Given the description of an element on the screen output the (x, y) to click on. 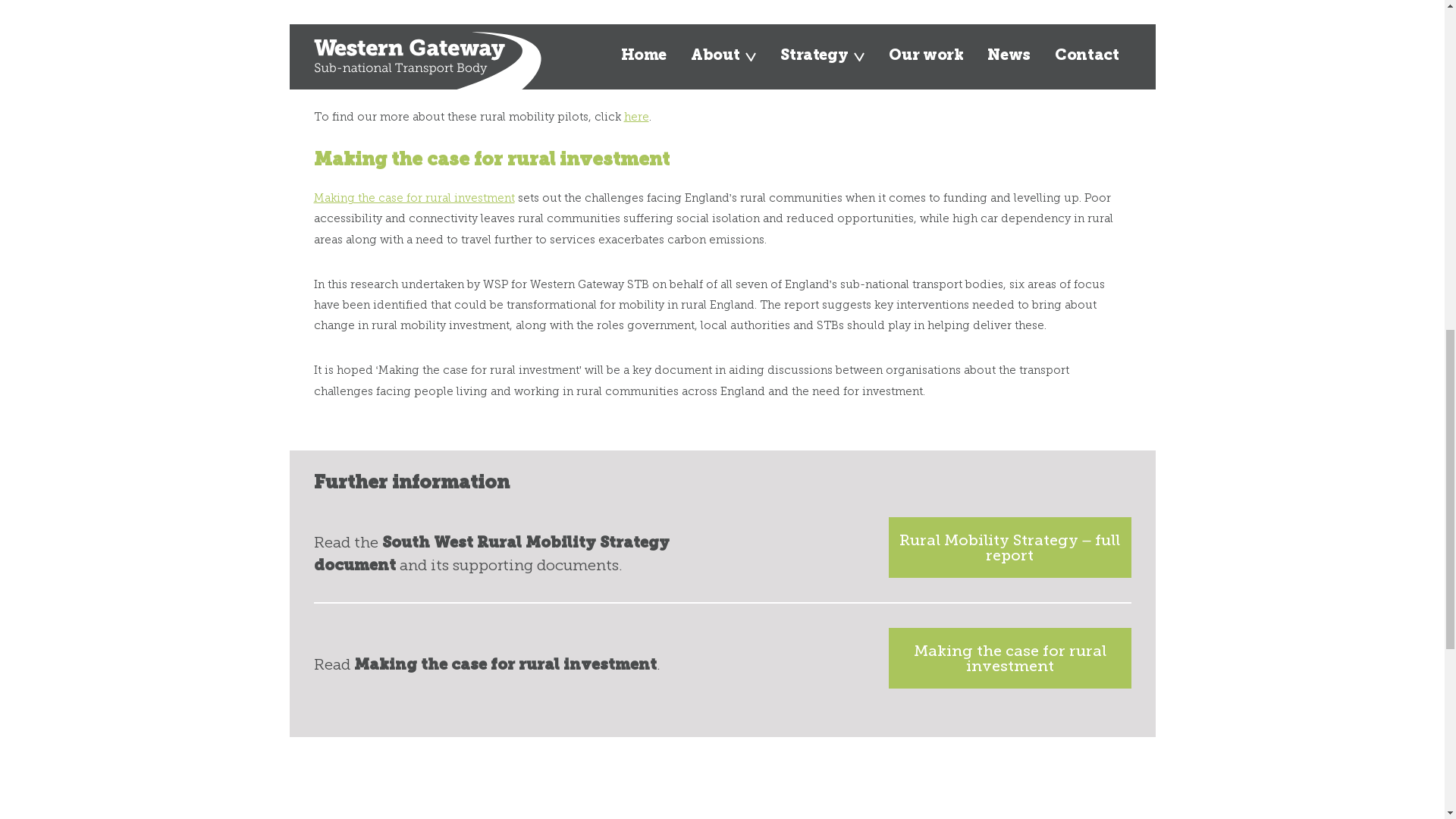
Making the case for rural investment (1009, 658)
here (635, 116)
Making the case for rural investment (414, 197)
